Given the description of an element on the screen output the (x, y) to click on. 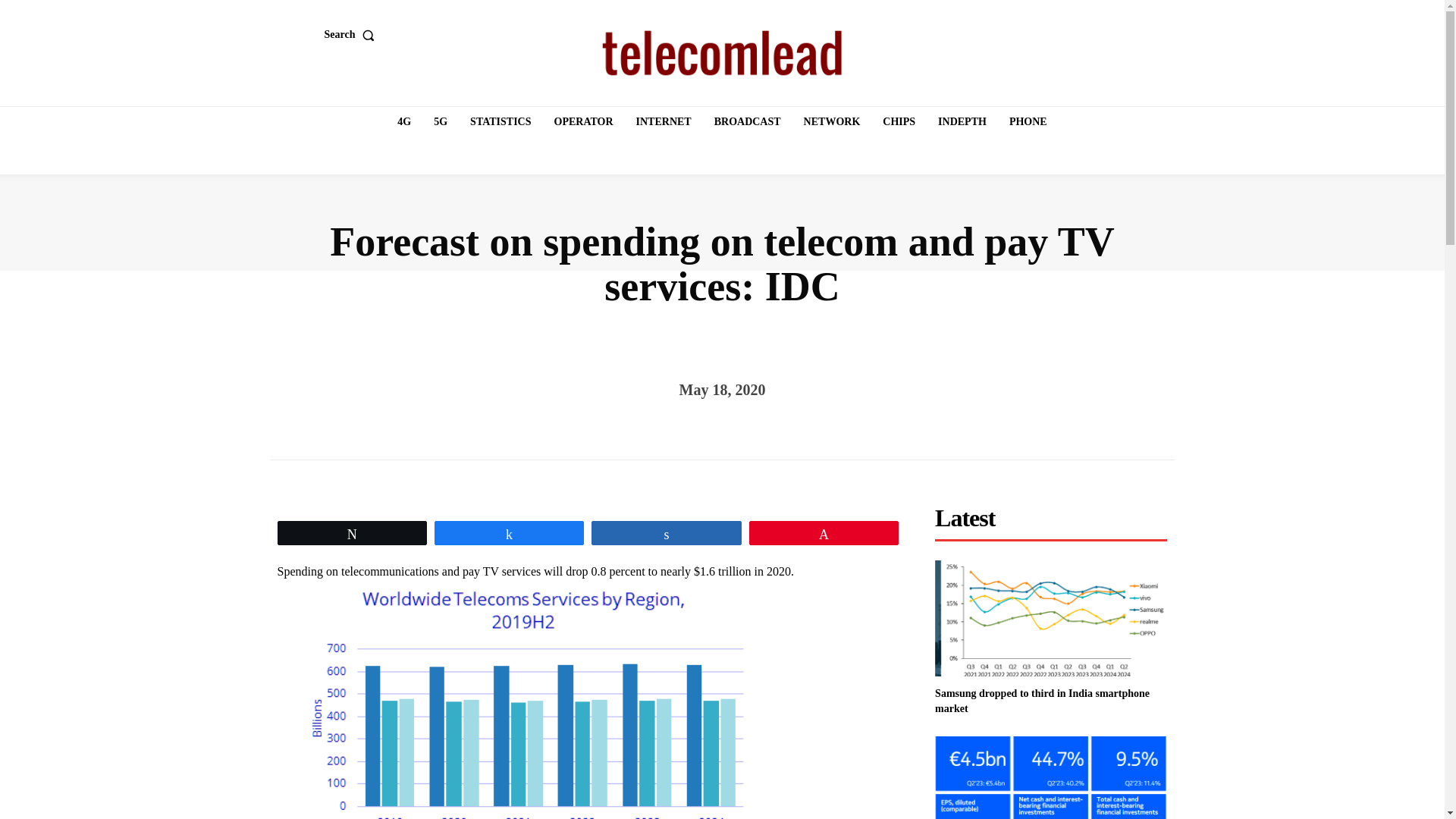
INDEPTH (962, 122)
Samsung dropped to third in India smartphone market (1050, 618)
Samsung dropped to third in India smartphone market (1042, 700)
4G (404, 122)
STATISTICS (500, 122)
CHIPS (899, 122)
OPERATOR (584, 122)
Search (352, 34)
Samsung dropped to third in India smartphone market (1042, 700)
PHONE (1027, 122)
5G (440, 122)
INTERNET (663, 122)
tl (722, 53)
